Given the description of an element on the screen output the (x, y) to click on. 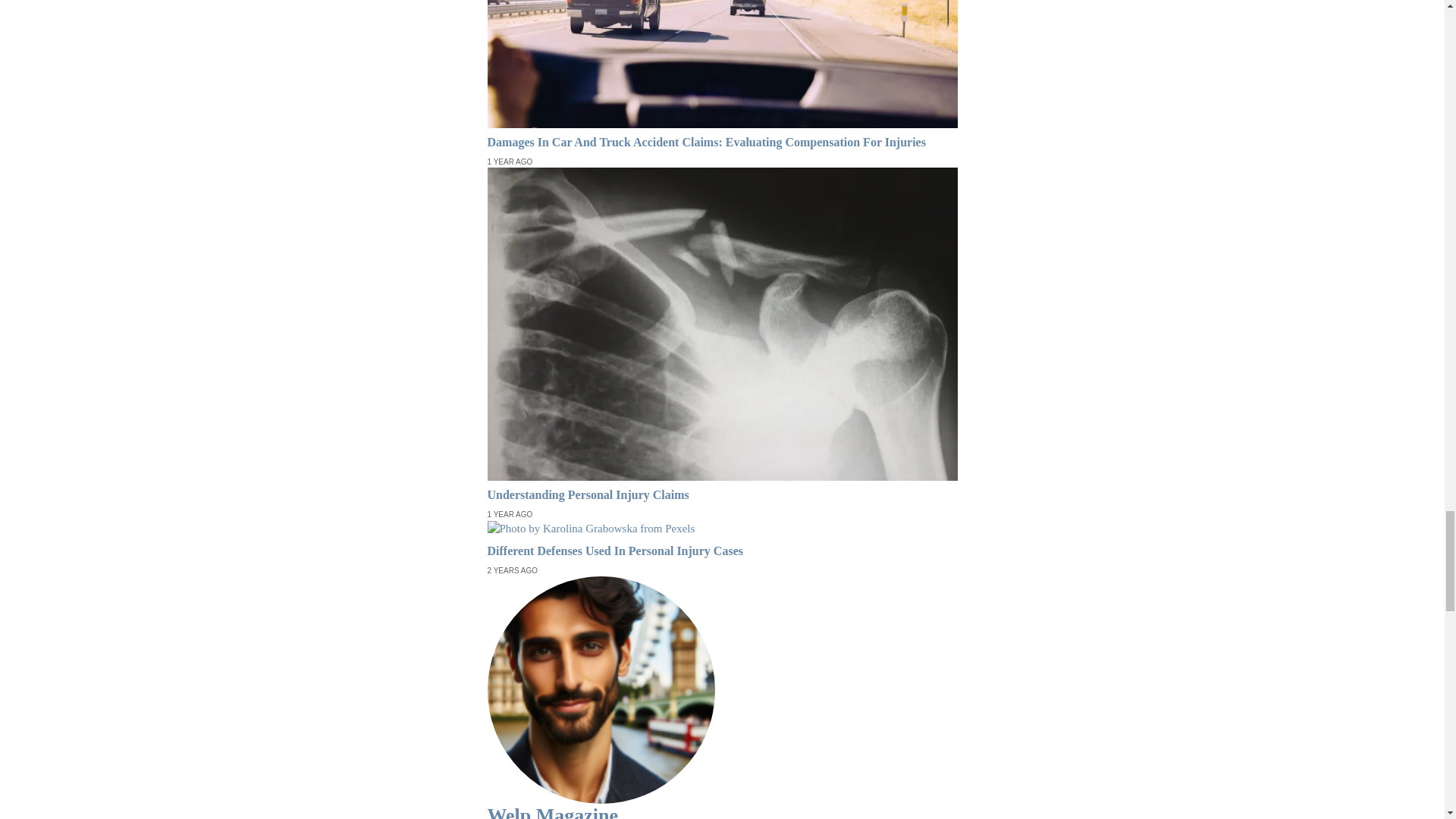
22 May, 2023 12:12:29 (509, 514)
17 Jun, 2023 15:15:14 (509, 162)
26 Aug, 2022 12:56:47 (511, 570)
